Given the description of an element on the screen output the (x, y) to click on. 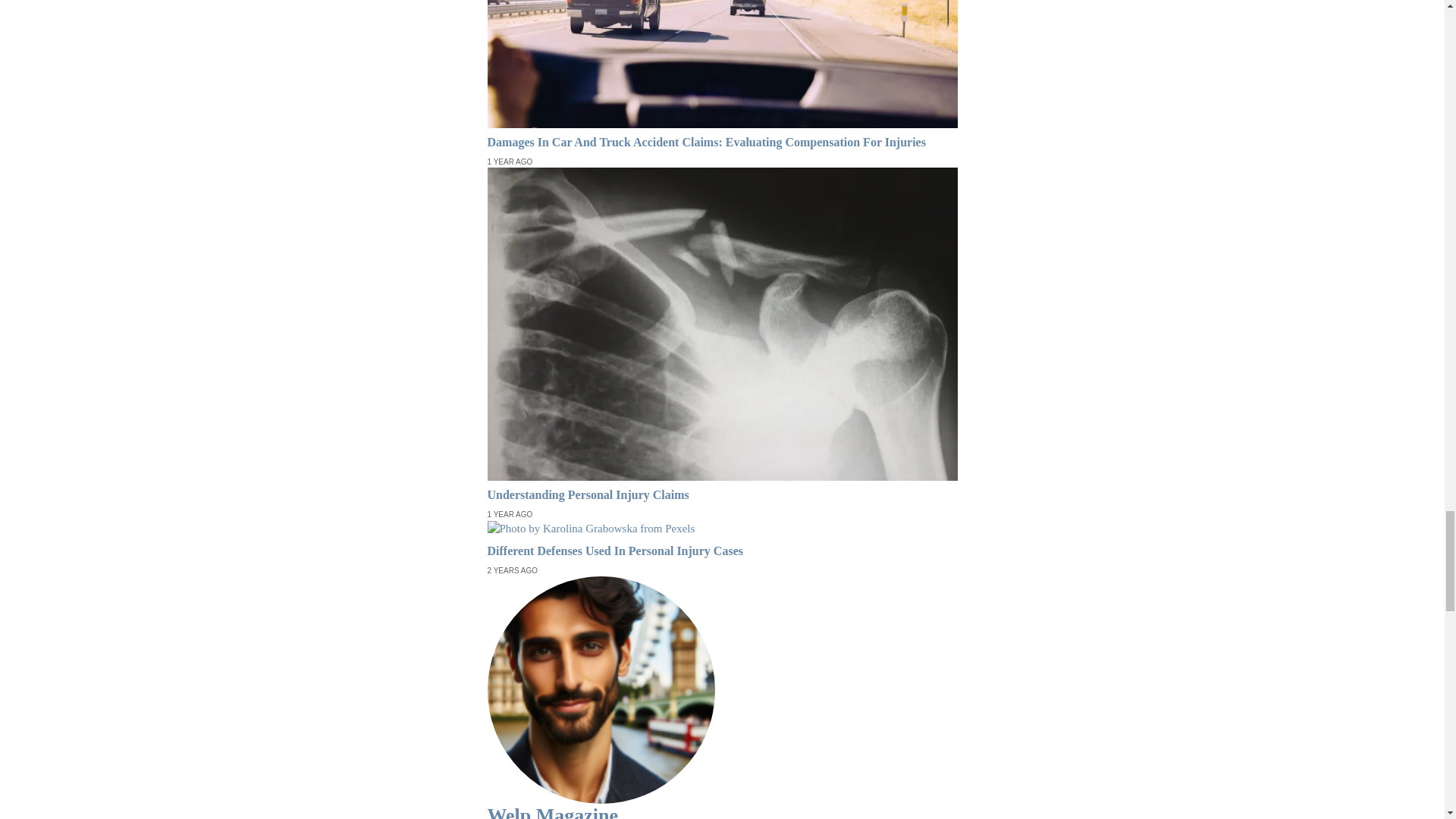
22 May, 2023 12:12:29 (509, 514)
17 Jun, 2023 15:15:14 (509, 162)
26 Aug, 2022 12:56:47 (511, 570)
